Given the description of an element on the screen output the (x, y) to click on. 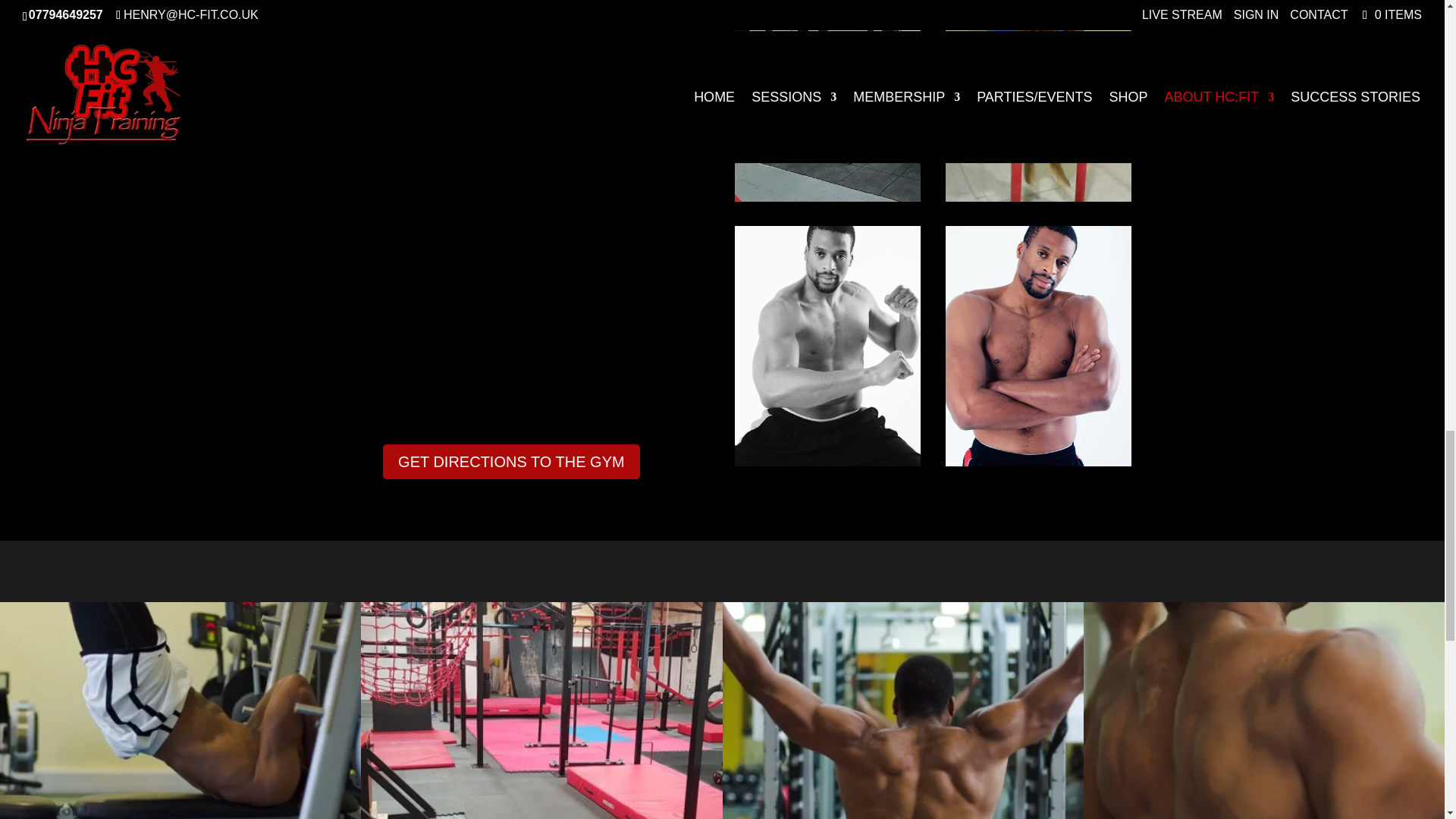
Henry-ripped (1038, 461)
LiverpoolGym-fitnessstudio-tall (828, 196)
Henry-martialartspose (828, 461)
Henry-parallelbars (1038, 196)
